Given the description of an element on the screen output the (x, y) to click on. 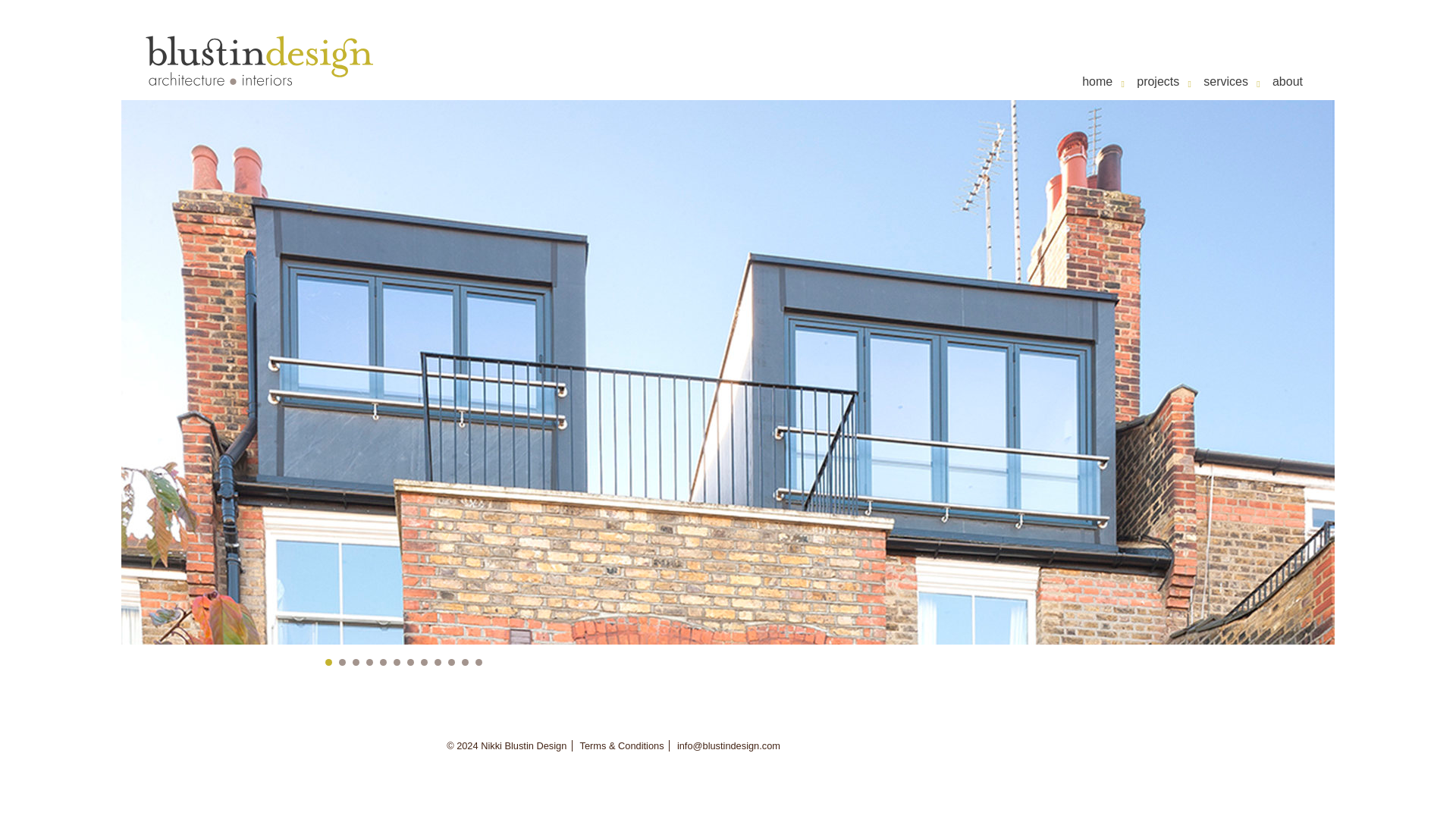
projects (1158, 81)
home (1096, 81)
services (1225, 81)
about (1287, 81)
